Given the description of an element on the screen output the (x, y) to click on. 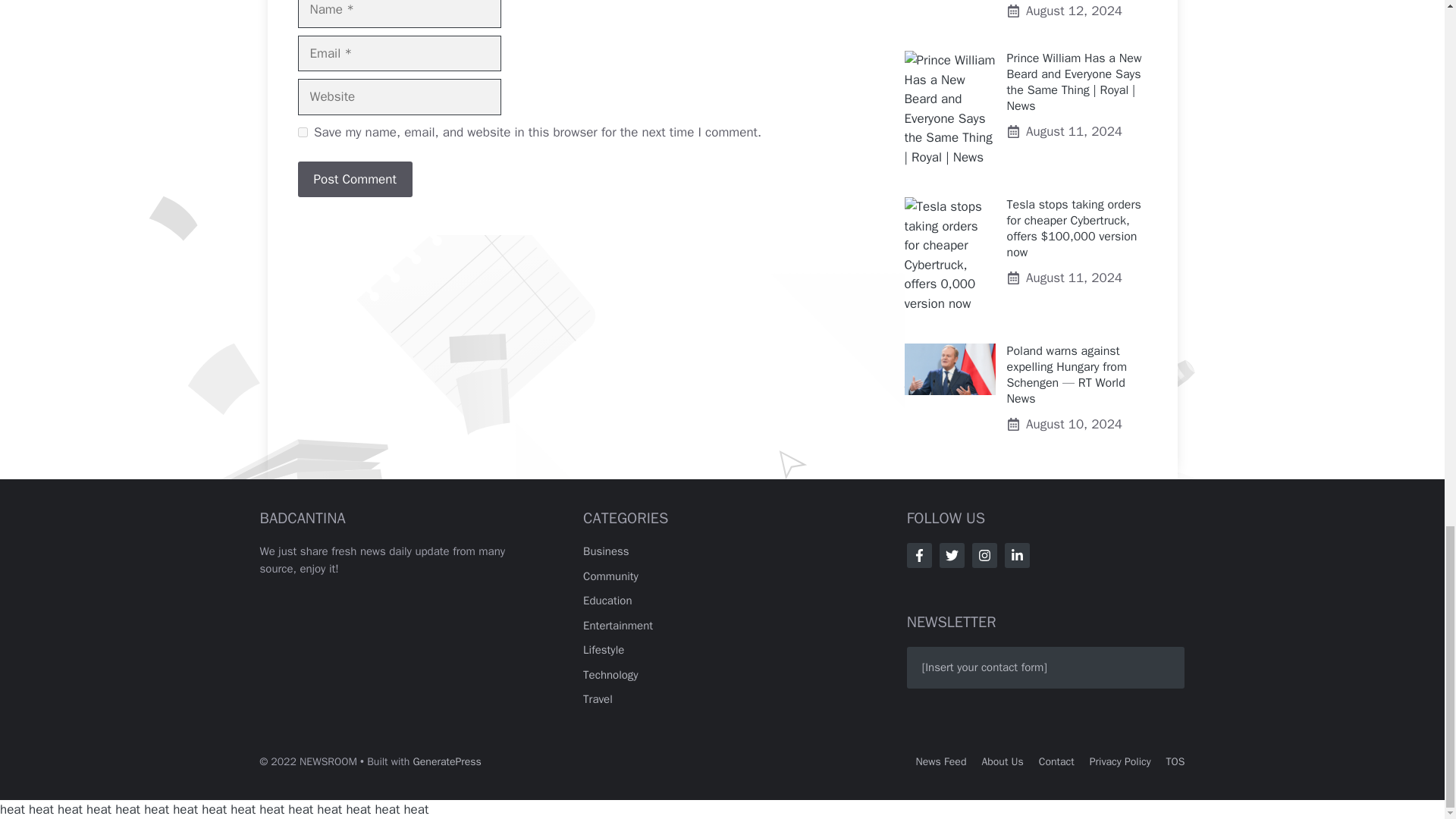
Lifestyle (603, 649)
yes (302, 132)
Technology (611, 674)
Post Comment (354, 179)
Community (611, 576)
Entertainment (617, 625)
Business (605, 550)
Post Comment (354, 179)
Scroll back to top (1406, 41)
Education (607, 600)
